Given the description of an element on the screen output the (x, y) to click on. 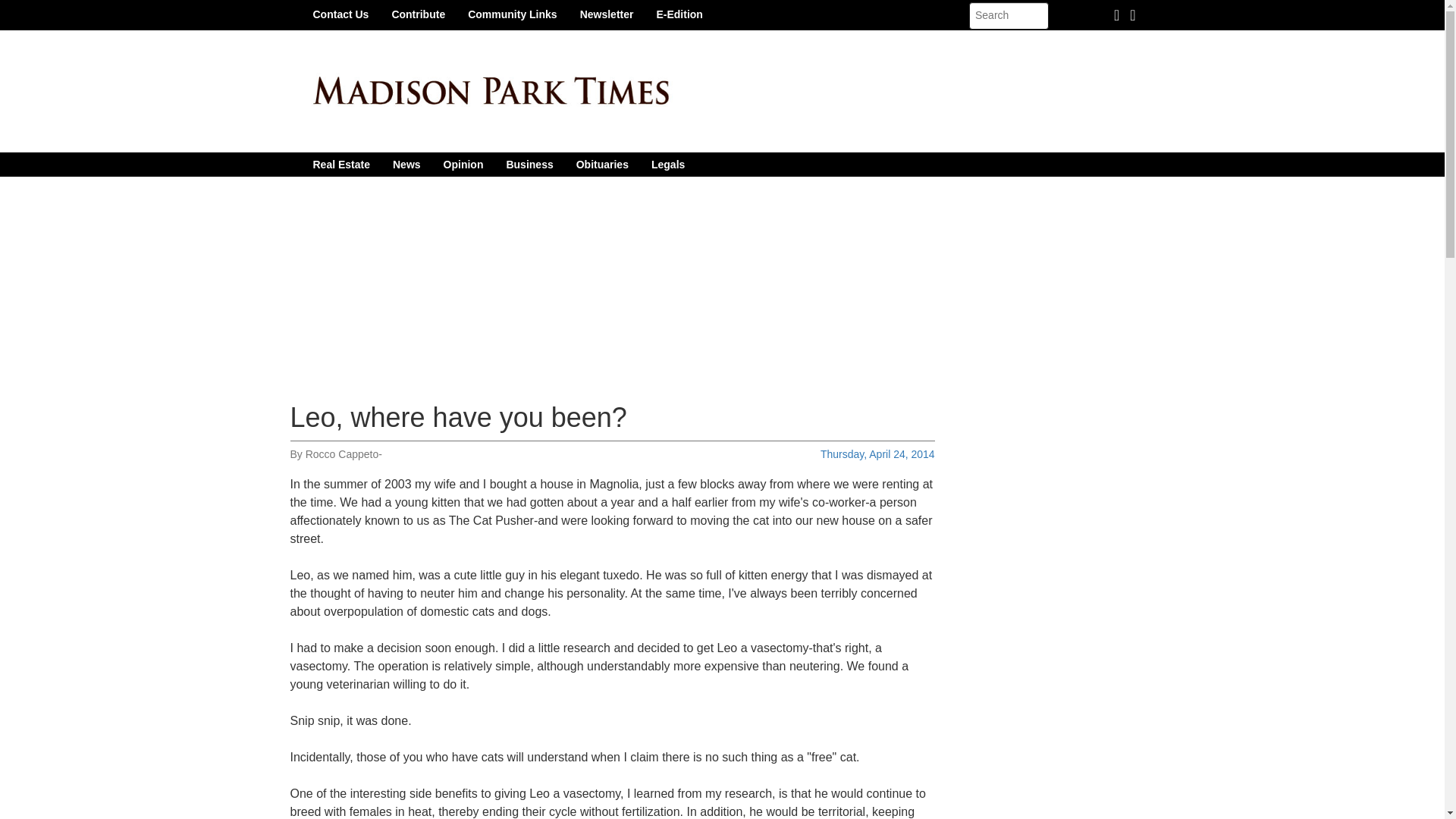
Thursday, April 24, 2014 (877, 453)
Legals (667, 164)
E-Edition (679, 14)
Obituaries (602, 164)
Newsletter (607, 14)
Business (529, 164)
Contact Us (340, 14)
Opinion (463, 164)
News (406, 164)
Community Links (512, 14)
Contribute (418, 14)
Real Estate (341, 164)
